Given the description of an element on the screen output the (x, y) to click on. 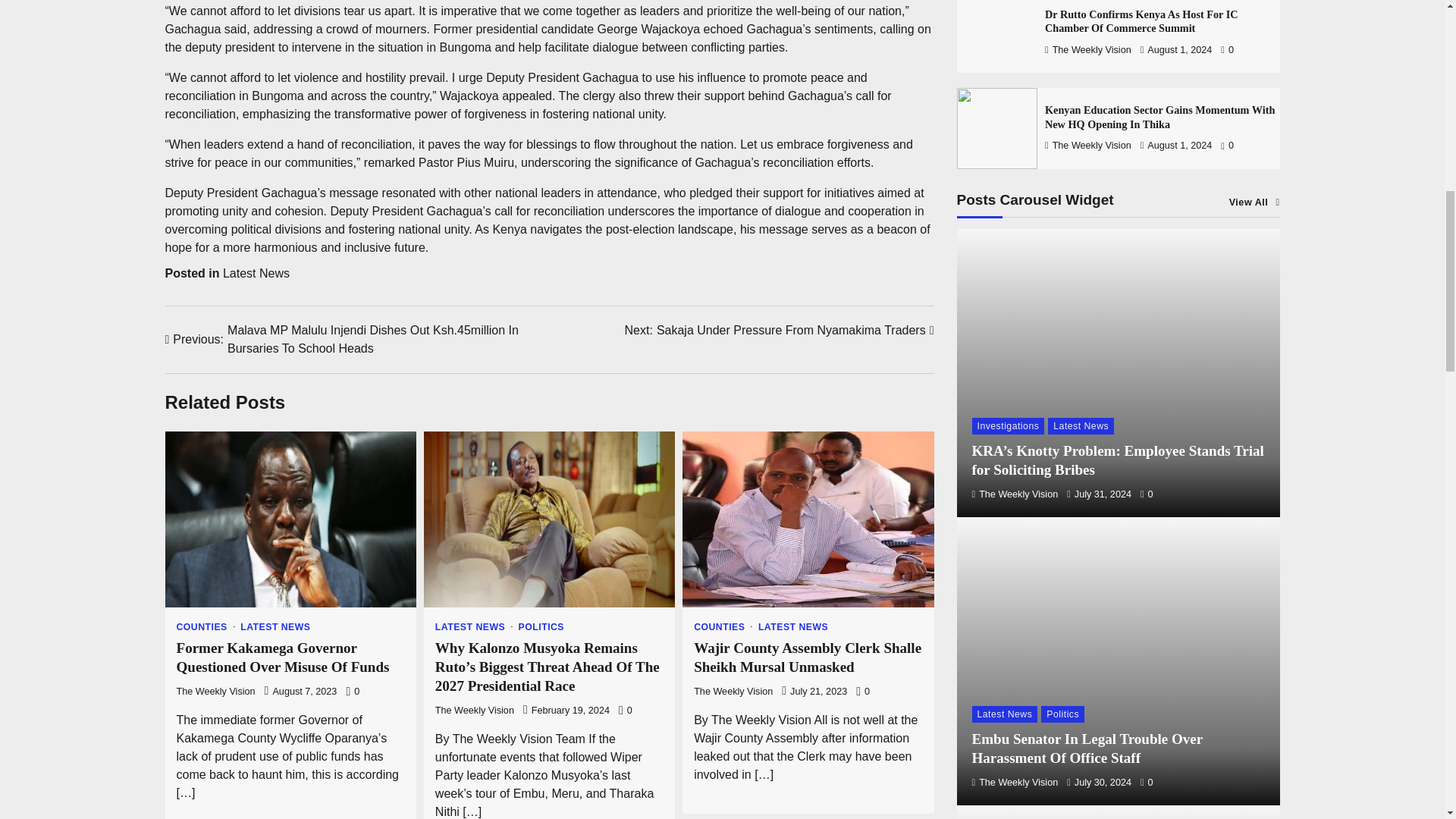
The Weekly Vision (733, 691)
The Weekly Vision (215, 691)
COUNTIES (724, 626)
Wajir County Assembly Clerk Shalle Sheikh Mursal Unmasked (807, 656)
Latest News (255, 273)
LATEST NEWS (793, 626)
COUNTIES (205, 626)
The Weekly Vision (474, 710)
POLITICS (541, 626)
Former Kakamega Governor Questioned Over Misuse Of Funds  (284, 656)
LATEST NEWS (475, 626)
LATEST NEWS (275, 626)
